Given the description of an element on the screen output the (x, y) to click on. 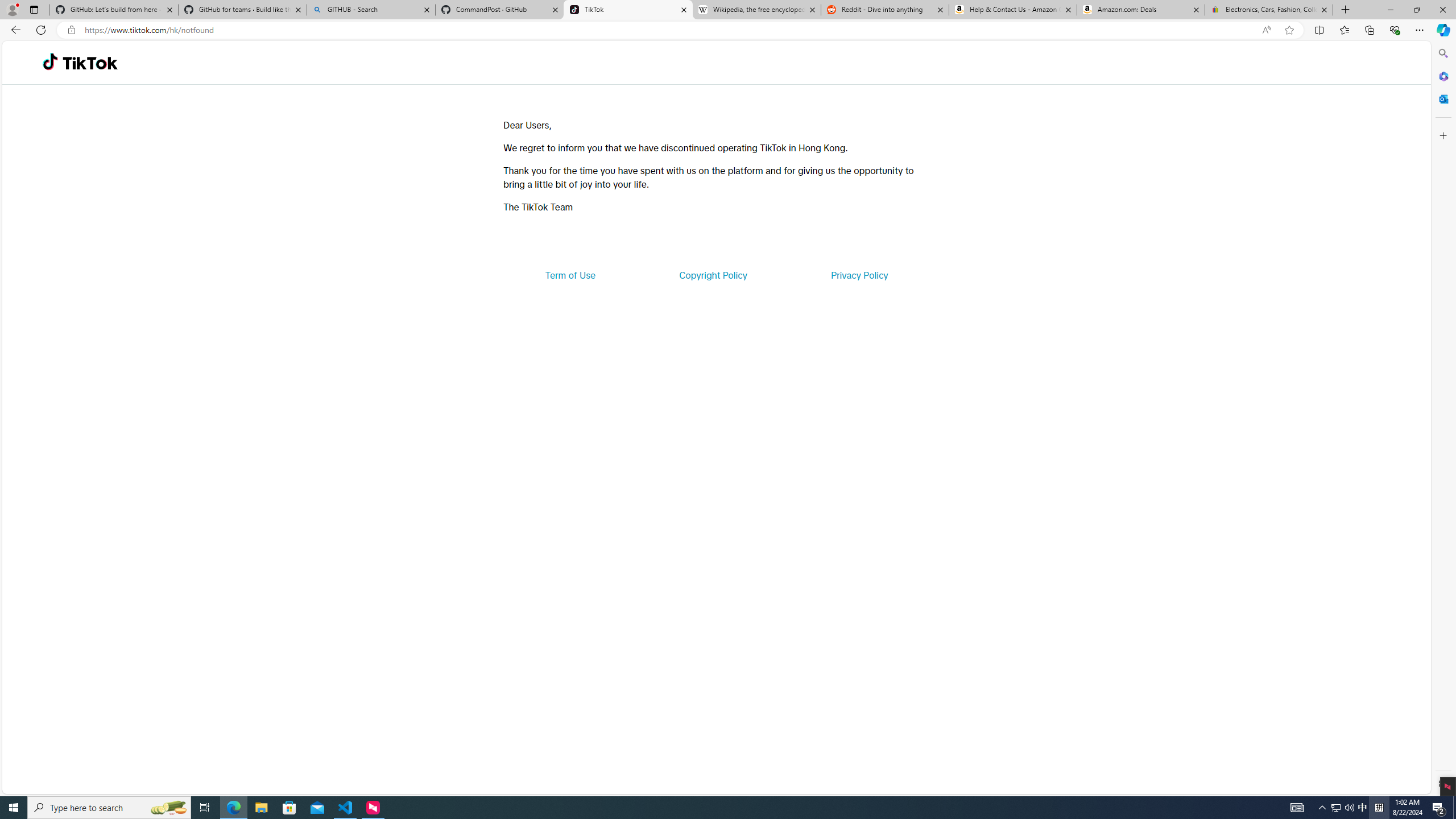
TikTok (628, 9)
Copyright Policy (712, 274)
Term of Use (569, 274)
